Given the description of an element on the screen output the (x, y) to click on. 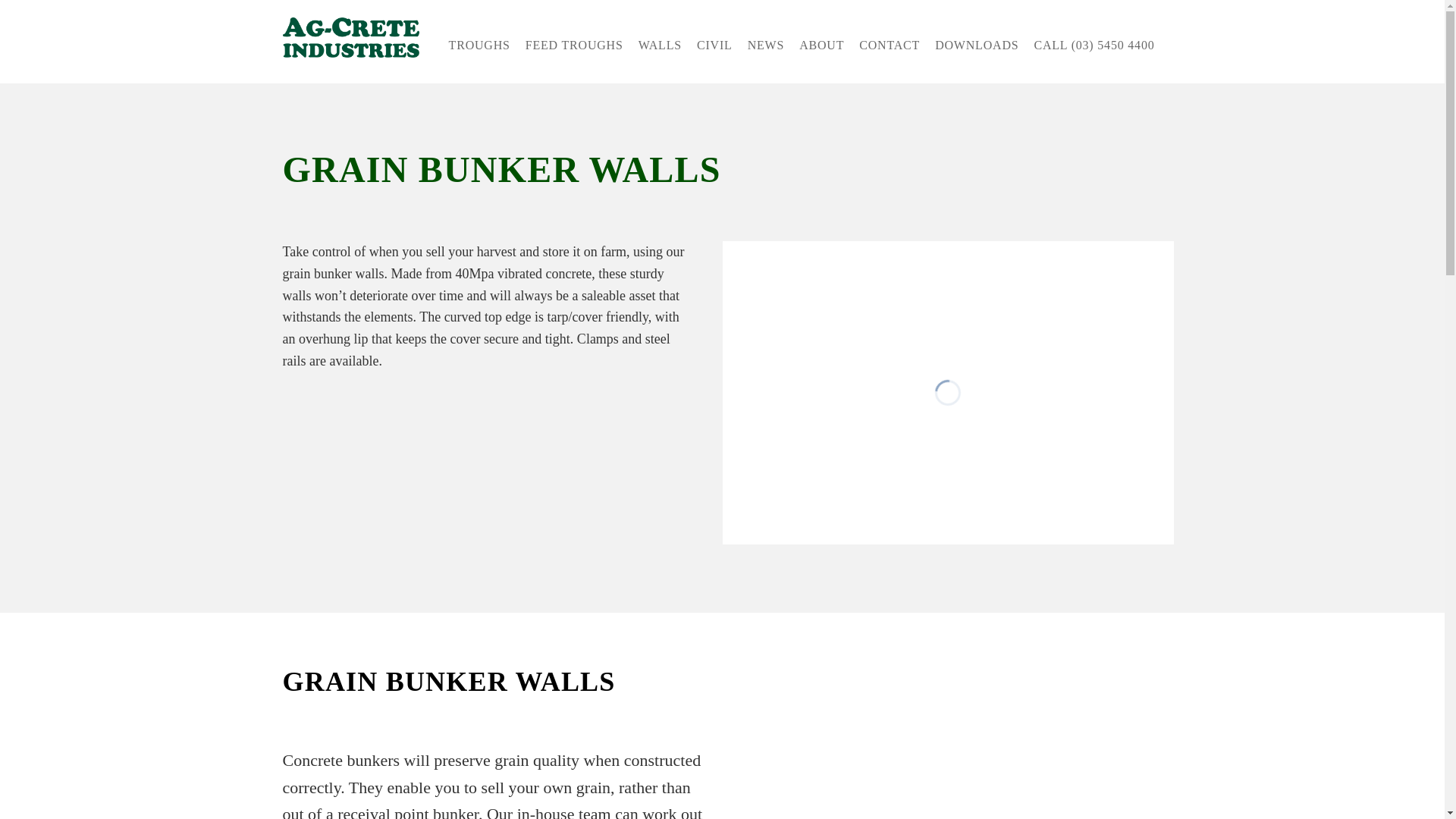
CONTACT (889, 45)
Home (355, 38)
DOWNLOADS (976, 45)
Downloads Section (976, 45)
TROUGHS (479, 45)
FEED TROUGHS (574, 45)
